Given the description of an element on the screen output the (x, y) to click on. 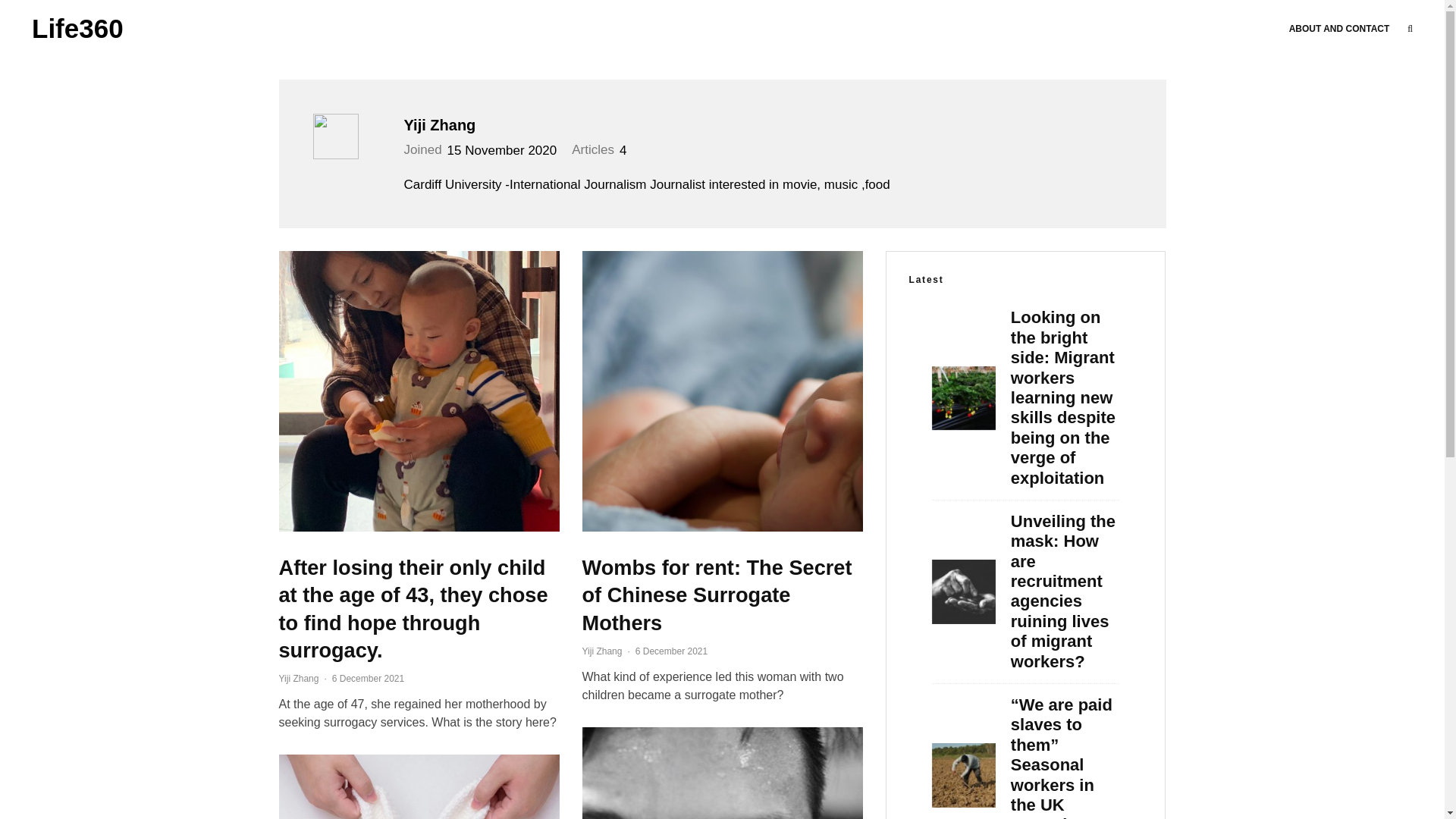
Yiji Zhang (602, 651)
Life360 (77, 28)
ABOUT AND CONTACT (1339, 28)
Wombs for rent: The Secret of Chinese Surrogate Mothers (722, 595)
Yiji Zhang (298, 678)
Yiji Zhang (764, 124)
